Given the description of an element on the screen output the (x, y) to click on. 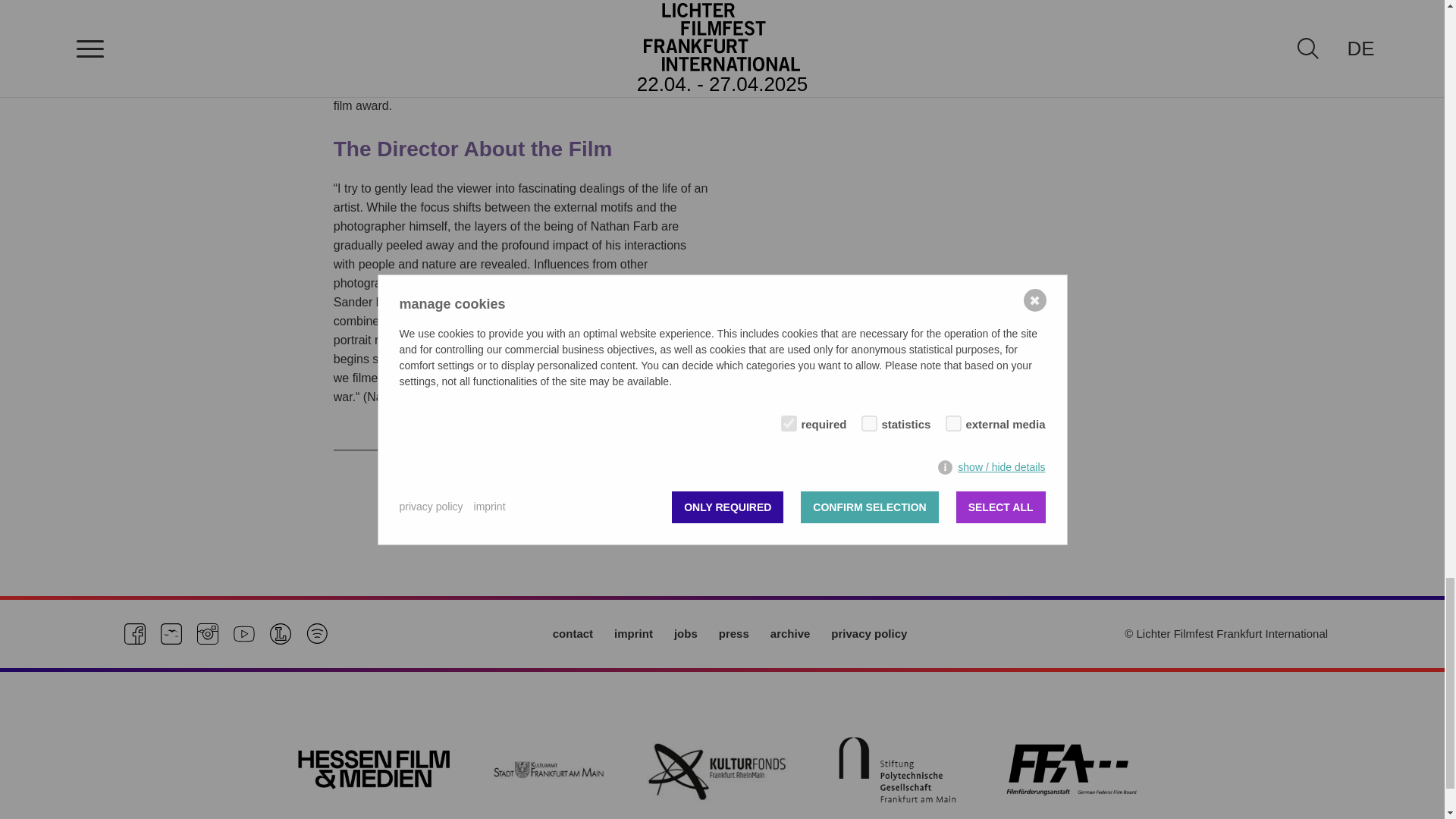
facebook (134, 633)
spotify (316, 633)
instagram (207, 633)
bluesky (171, 633)
letterboxd (280, 633)
youtube (243, 633)
